Given the description of an element on the screen output the (x, y) to click on. 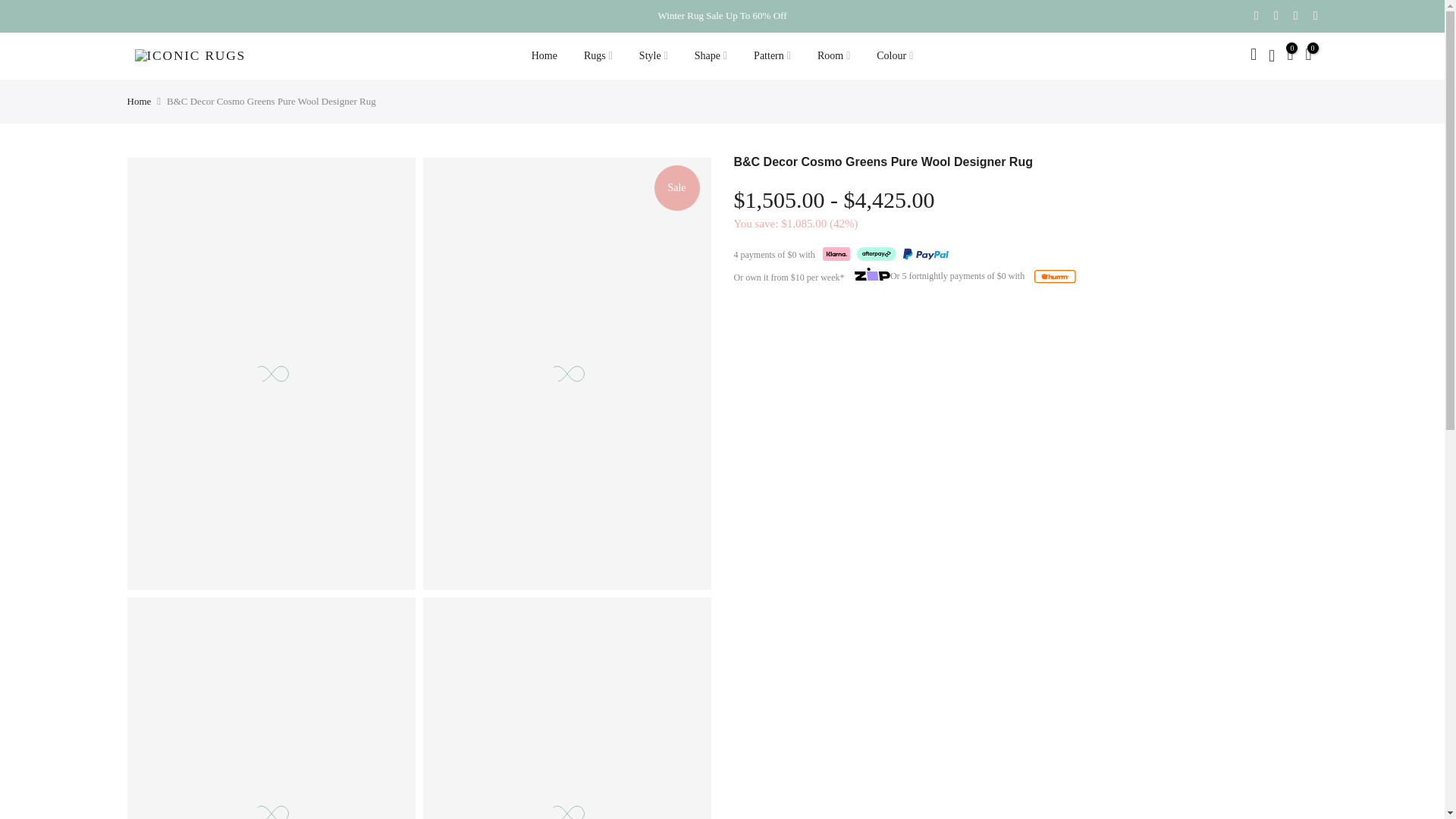
Shape (710, 55)
Klarna badge (836, 254)
Home (544, 55)
Colour (894, 55)
Style (653, 55)
Home (139, 101)
Rugs (598, 55)
0 (1289, 55)
Room (833, 55)
Pattern (773, 55)
